Given the description of an element on the screen output the (x, y) to click on. 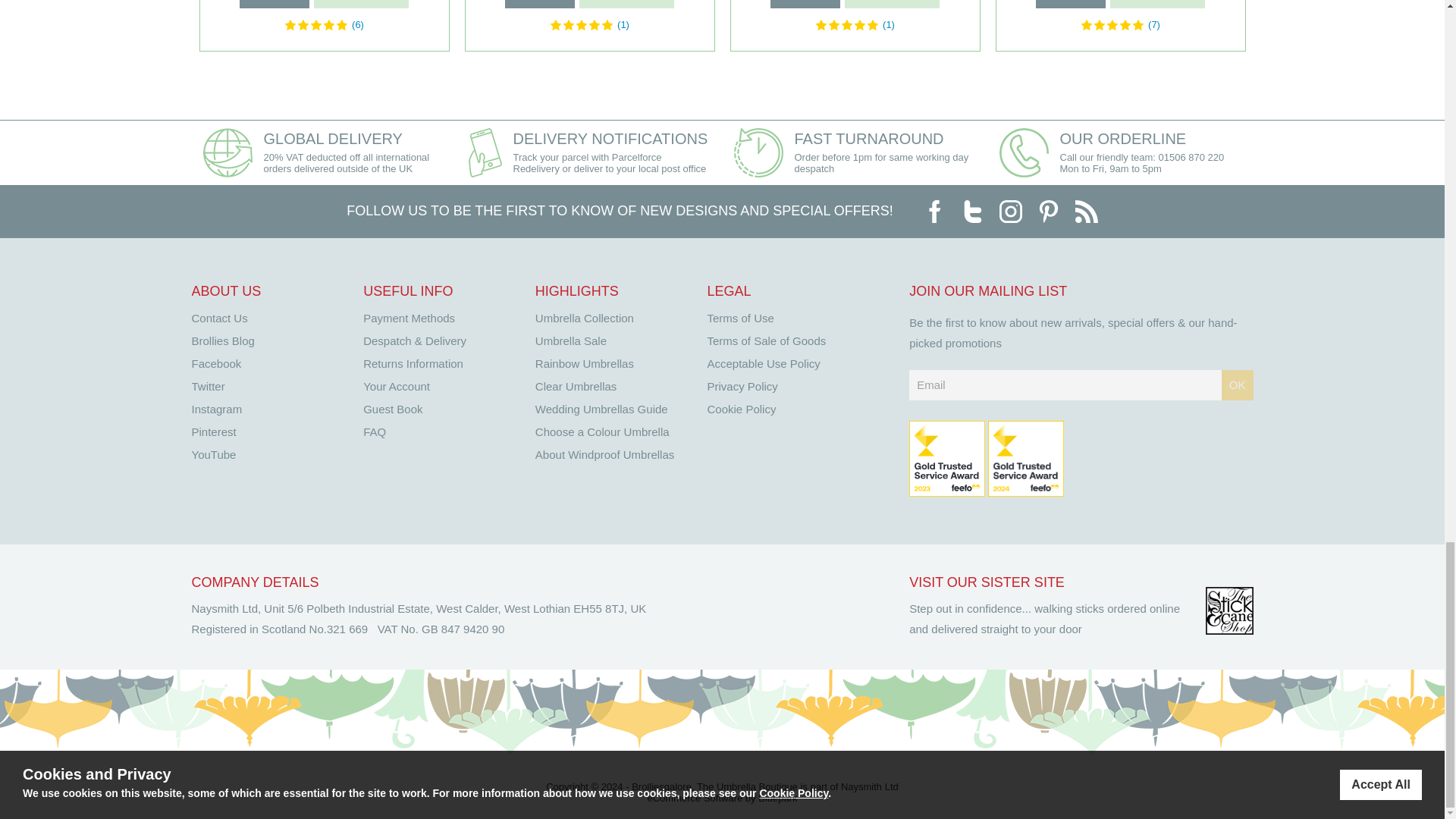
DETAILS (274, 4)
DETAILS (805, 4)
DETAILS (539, 4)
ADD TO BAG (361, 4)
ADD TO BAG (891, 4)
ADD TO BAG (626, 4)
